Given the description of an element on the screen output the (x, y) to click on. 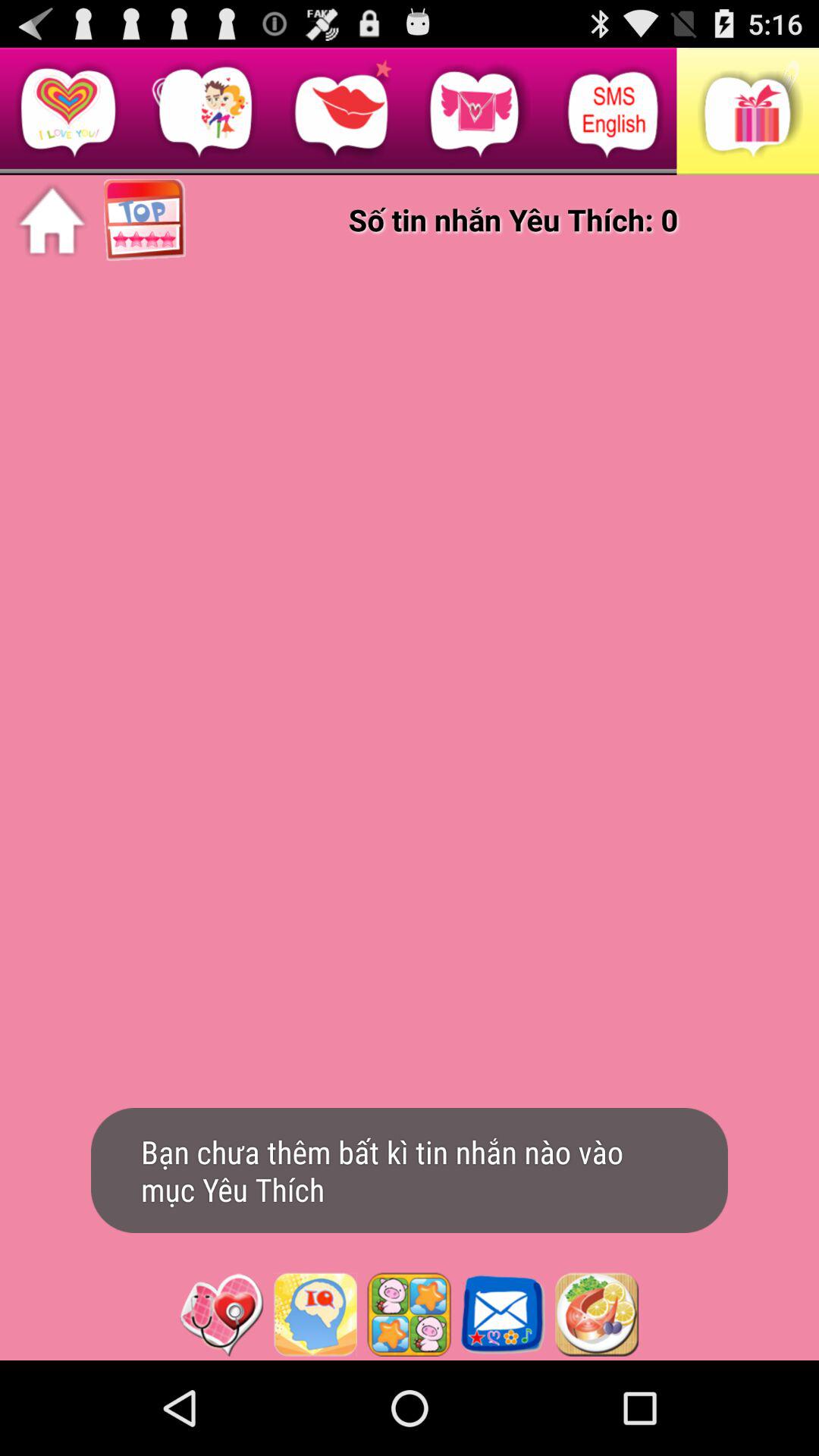
select option (315, 1314)
